Given the description of an element on the screen output the (x, y) to click on. 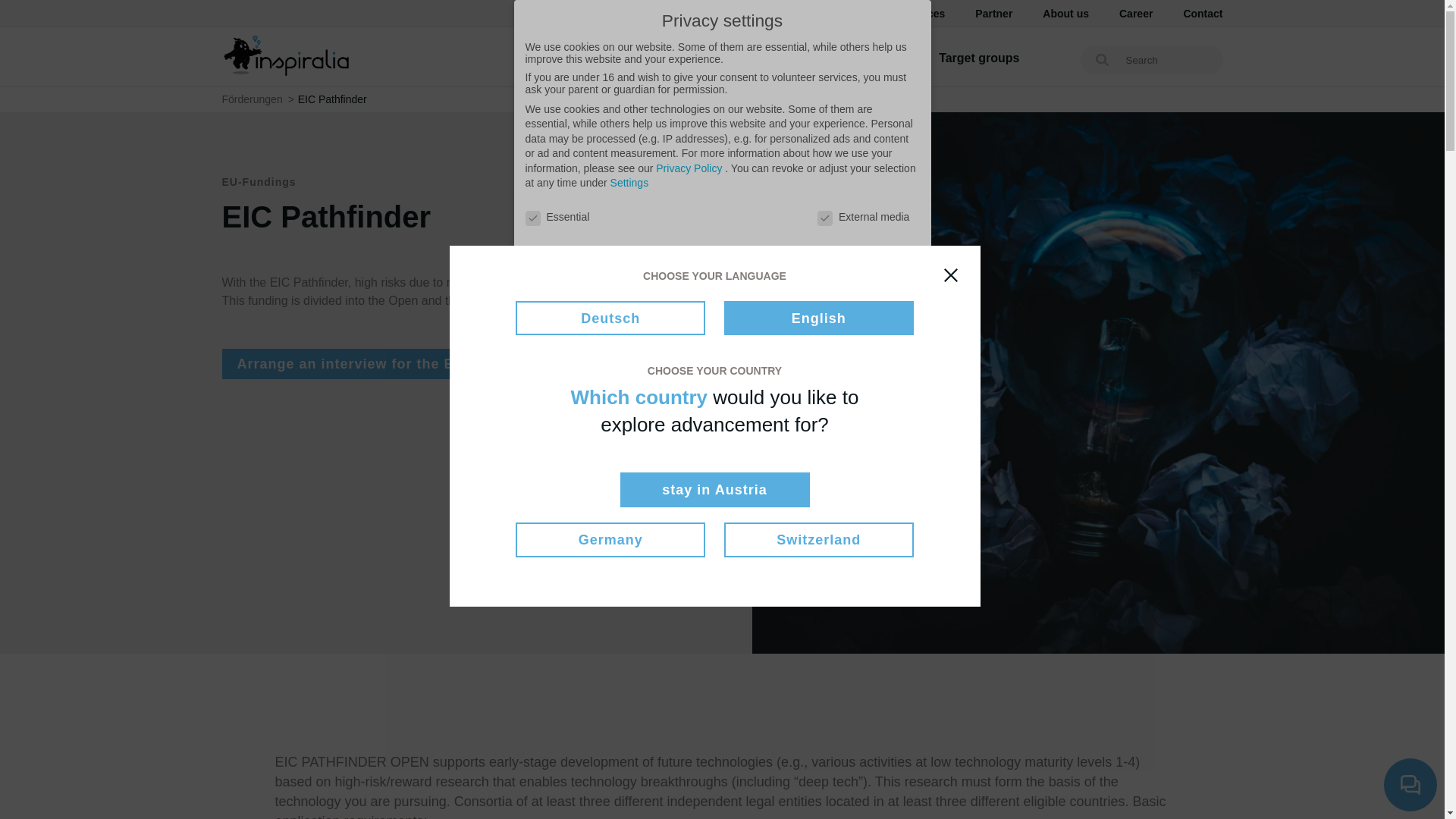
Contact (1202, 13)
English (734, 13)
News (843, 13)
Partner (993, 13)
Search (1101, 61)
Target groups (979, 57)
EU-Fundings (870, 57)
Search (1101, 61)
References (916, 13)
About us (1065, 13)
Search (1101, 61)
Fundings (551, 57)
Career (1136, 13)
Financing (774, 57)
